Given the description of an element on the screen output the (x, y) to click on. 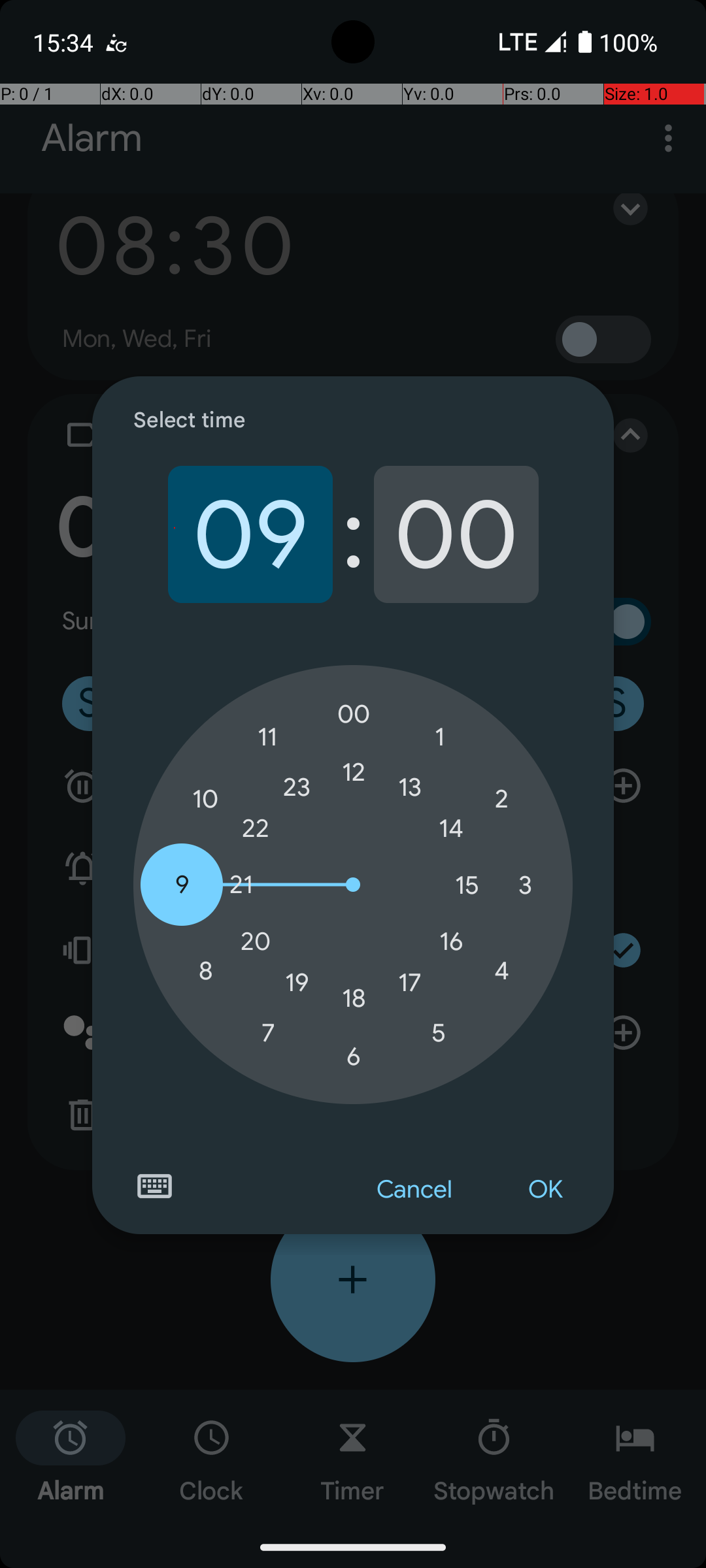
09 Element type: android.view.View (250, 534)
